Given the description of an element on the screen output the (x, y) to click on. 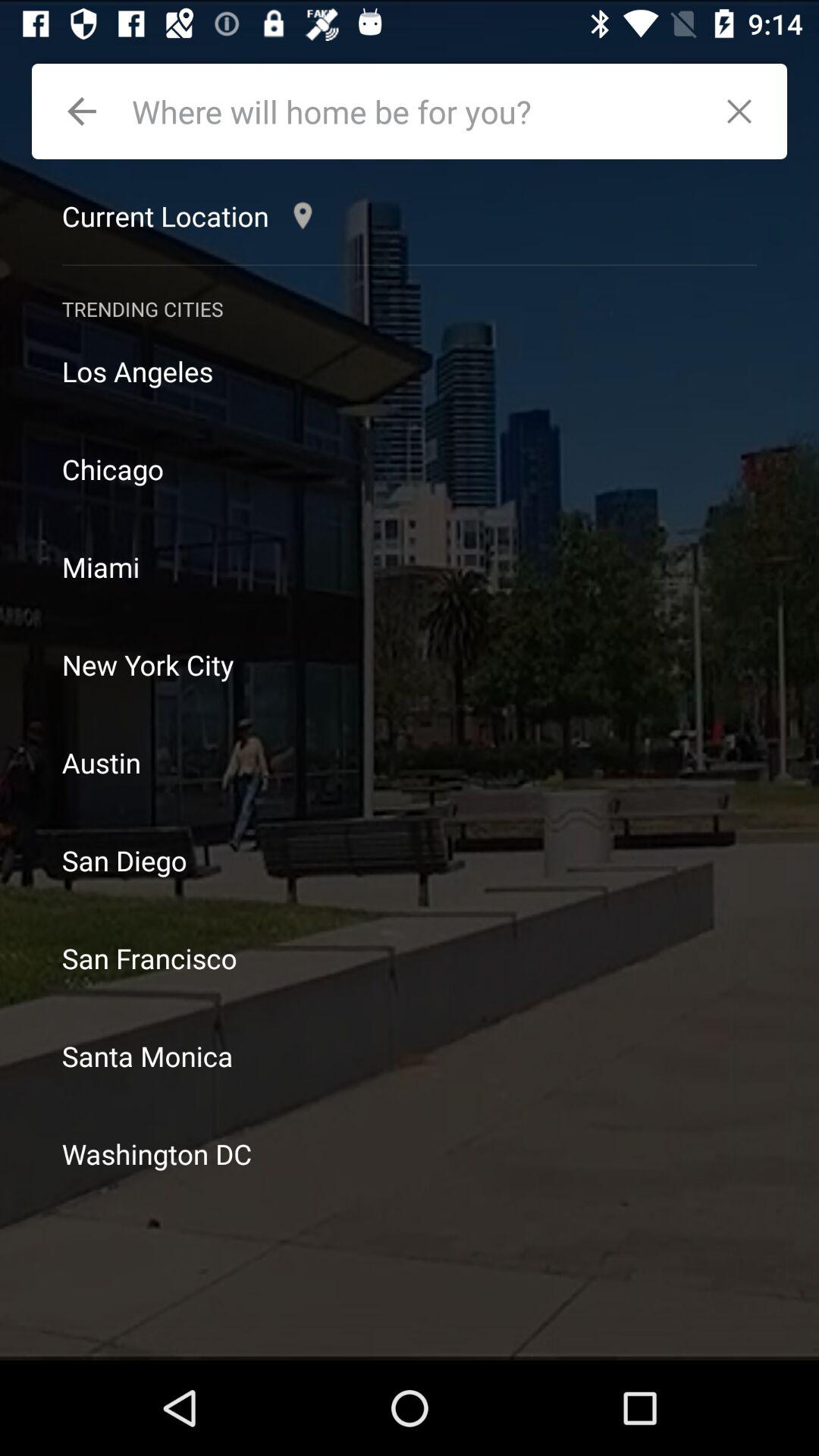
turn off the item above chicago item (409, 371)
